Given the description of an element on the screen output the (x, y) to click on. 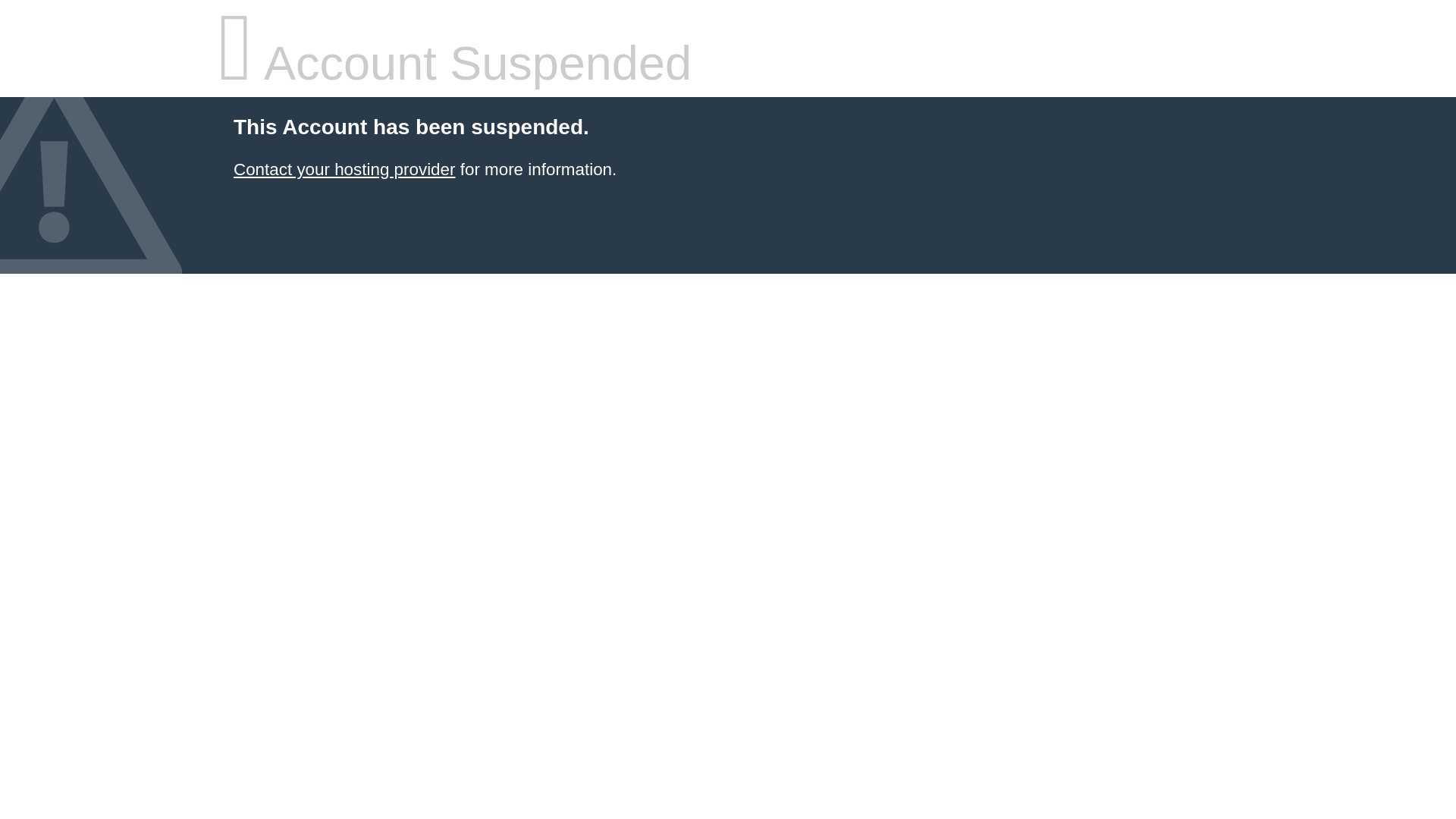
Contact your hosting provider Element type: text (344, 169)
